Given the description of an element on the screen output the (x, y) to click on. 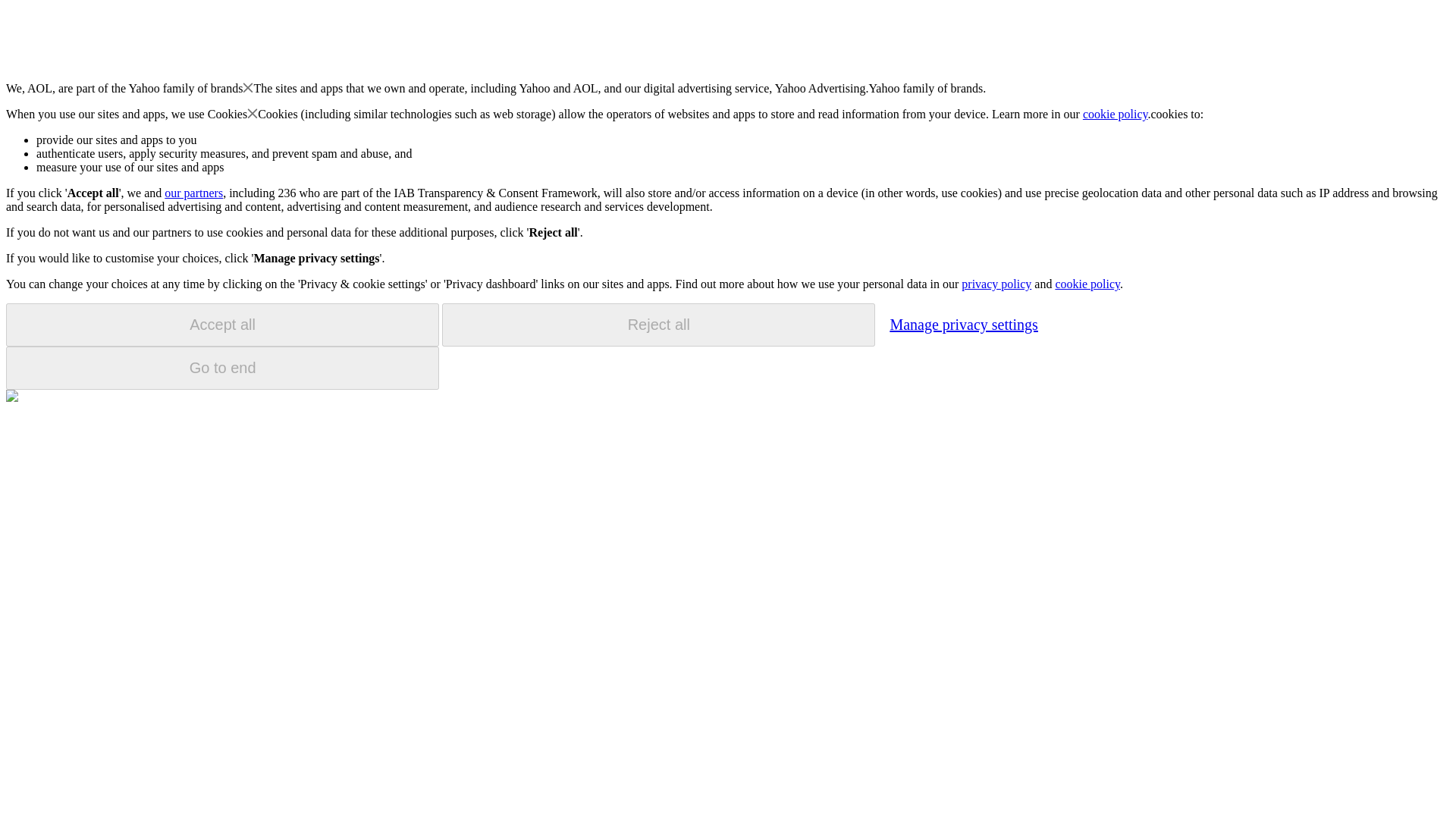
privacy policy (995, 283)
Go to end (222, 367)
cookie policy (1115, 113)
cookie policy (1086, 283)
Manage privacy settings (963, 323)
Reject all (658, 324)
our partners (193, 192)
Accept all (222, 324)
